Given the description of an element on the screen output the (x, y) to click on. 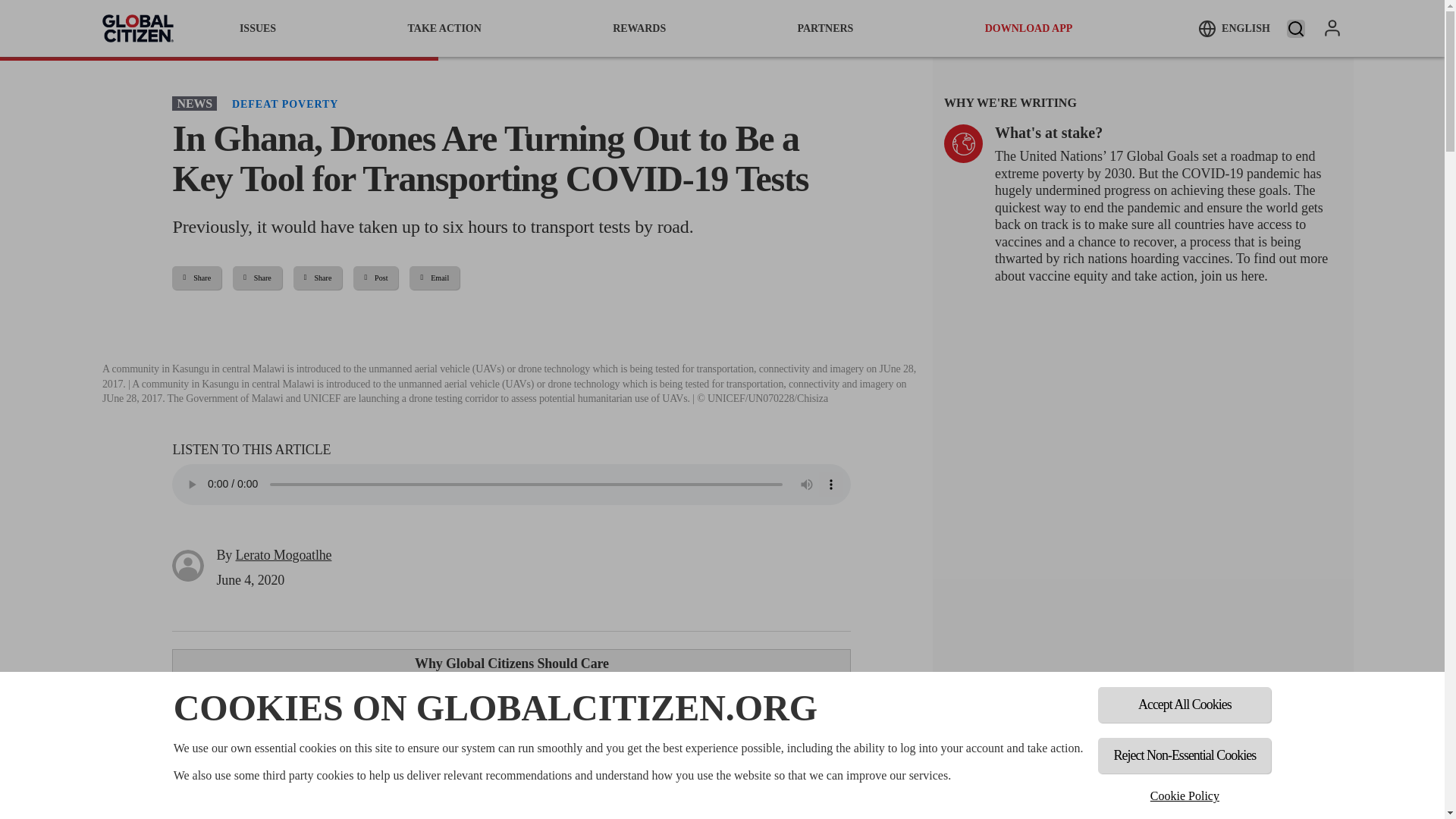
ISSUES (257, 28)
Defeat Poverty (284, 103)
DEFEAT POVERTY (284, 103)
TAKE ACTION (444, 28)
Share (196, 277)
PARTNERS (825, 28)
DOWNLOAD APP (1029, 28)
ENGLISH (1233, 28)
REWARDS (639, 28)
